Given the description of an element on the screen output the (x, y) to click on. 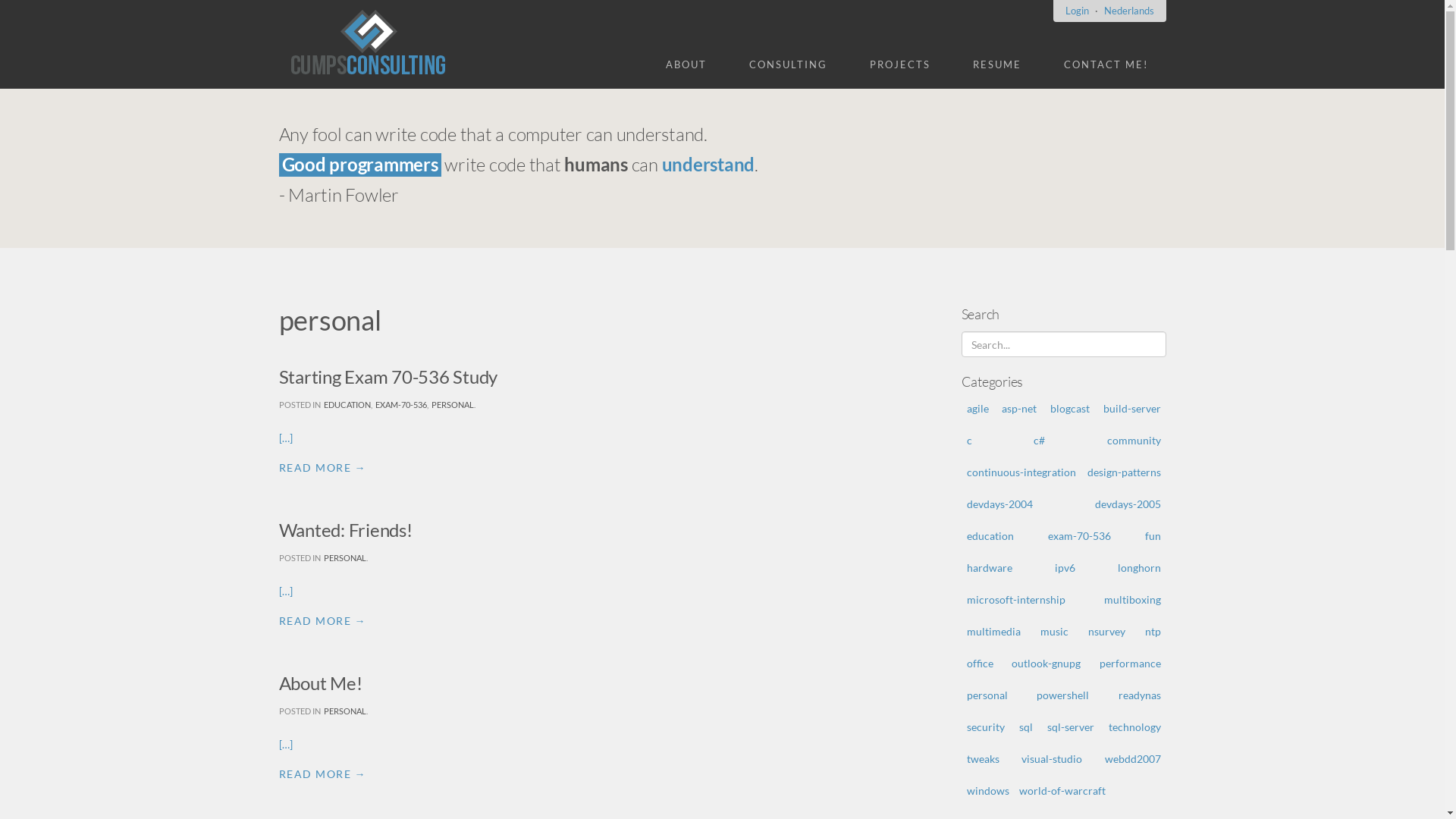
technology Element type: text (1134, 726)
multimedia Element type: text (992, 630)
devdays-2005 Element type: text (1128, 503)
powershell Element type: text (1062, 694)
RESUME Element type: text (995, 63)
longhorn Element type: text (1139, 567)
EDUCATION Element type: text (346, 404)
c Element type: text (968, 439)
nsurvey Element type: text (1105, 630)
ipv6 Element type: text (1064, 567)
Good programmers Element type: text (360, 164)
Starting Exam 70-536 Study Element type: text (388, 376)
c# Element type: text (1038, 439)
Wanted: Friends! Element type: text (345, 529)
asp-net Element type: text (1018, 407)
personal Element type: text (330, 319)
education Element type: text (989, 535)
PERSONAL Element type: text (344, 710)
personal Element type: text (986, 694)
sql Element type: text (1025, 726)
tweaks Element type: text (982, 758)
exam-70-536 Element type: text (1079, 535)
ABOUT Element type: text (685, 63)
music Element type: text (1054, 630)
PERSONAL Element type: text (451, 404)
ntp Element type: text (1153, 630)
continuous-integration Element type: text (1020, 471)
performance Element type: text (1130, 662)
world-of-warcraft Element type: text (1062, 790)
visual-studio Element type: text (1051, 758)
multiboxing Element type: text (1132, 599)
blogcast Element type: text (1069, 407)
devdays-2004 Element type: text (999, 503)
hardware Element type: text (988, 567)
build-server Element type: text (1132, 407)
sql-server Element type: text (1069, 726)
agile Element type: text (977, 407)
About Me! Element type: text (320, 682)
fun Element type: text (1153, 535)
windows Element type: text (987, 790)
EXAM-70-536 Element type: text (400, 404)
webdd2007 Element type: text (1132, 758)
CONTACT ME! Element type: text (1104, 63)
PROJECTS Element type: text (898, 63)
CONSULTING Element type: text (788, 63)
microsoft-internship Element type: text (1015, 599)
outlook-gnupg Element type: text (1045, 662)
office Element type: text (979, 662)
design-patterns Element type: text (1124, 471)
community Element type: text (1134, 439)
PERSONAL Element type: text (344, 557)
readynas Element type: text (1138, 694)
security Element type: text (985, 726)
